Given the description of an element on the screen output the (x, y) to click on. 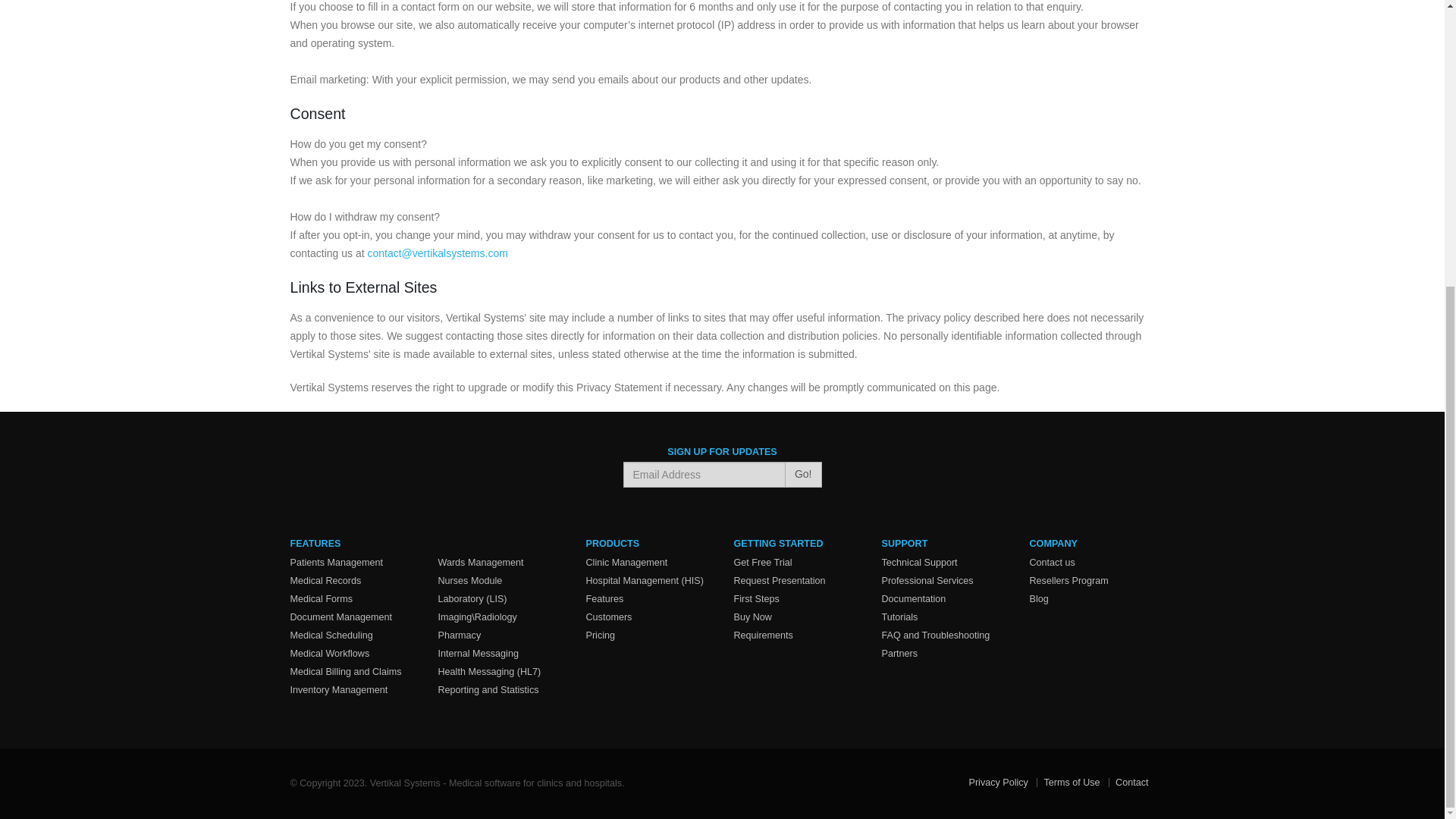
Clinic Management (625, 562)
Nurses Module (470, 580)
Inventory Management (338, 689)
First Steps (755, 598)
Medical Forms (320, 598)
Internal Messaging (478, 653)
Get Free Trial (762, 562)
Wards Management (481, 562)
Customers (608, 616)
Go! (803, 474)
Pricing (599, 634)
Document Management (340, 616)
Features (604, 598)
Medical Billing and Claims (345, 671)
Pharmacy (459, 634)
